Given the description of an element on the screen output the (x, y) to click on. 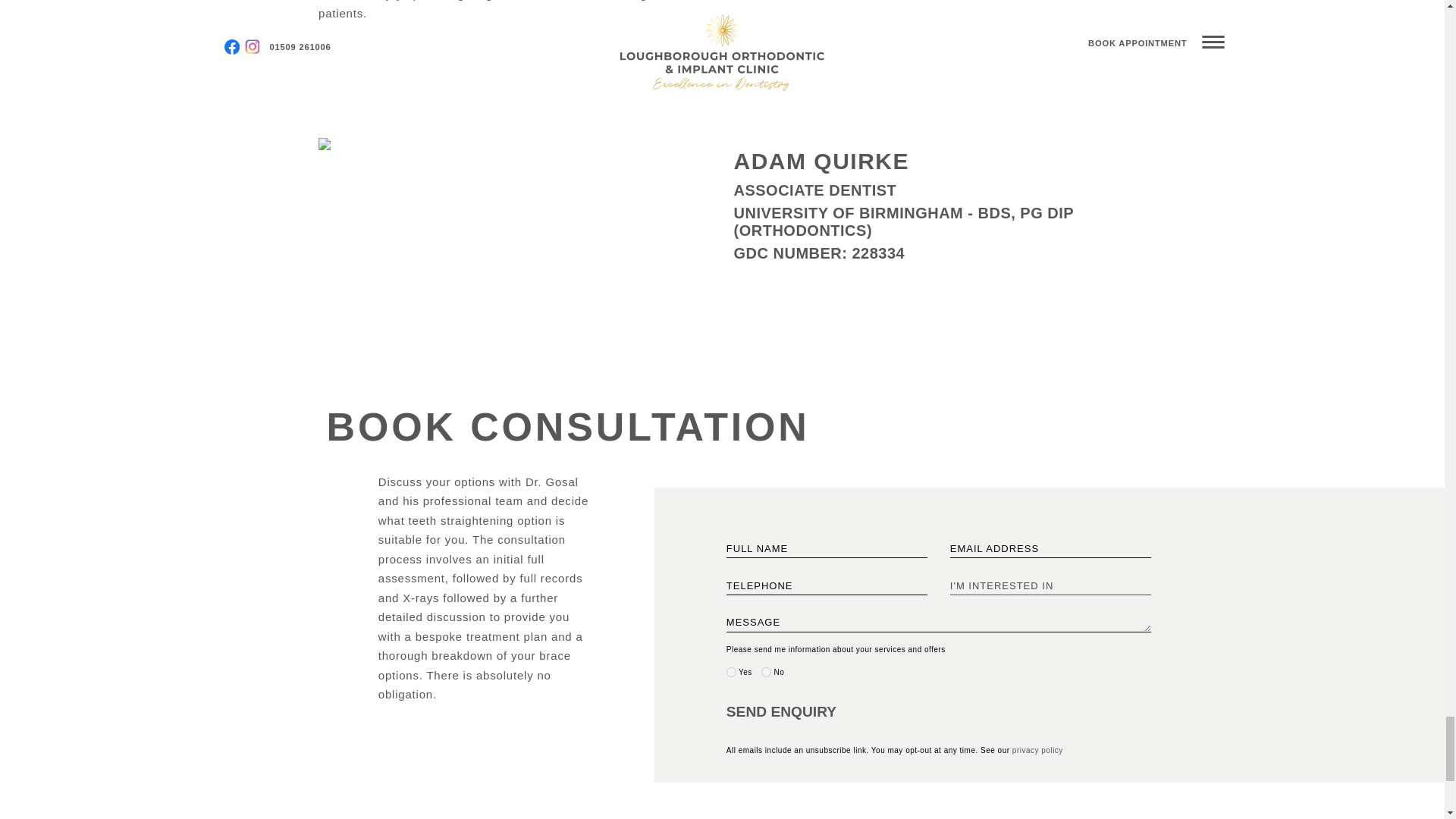
Send enquiry (805, 711)
Yes (731, 672)
No (766, 672)
